Given the description of an element on the screen output the (x, y) to click on. 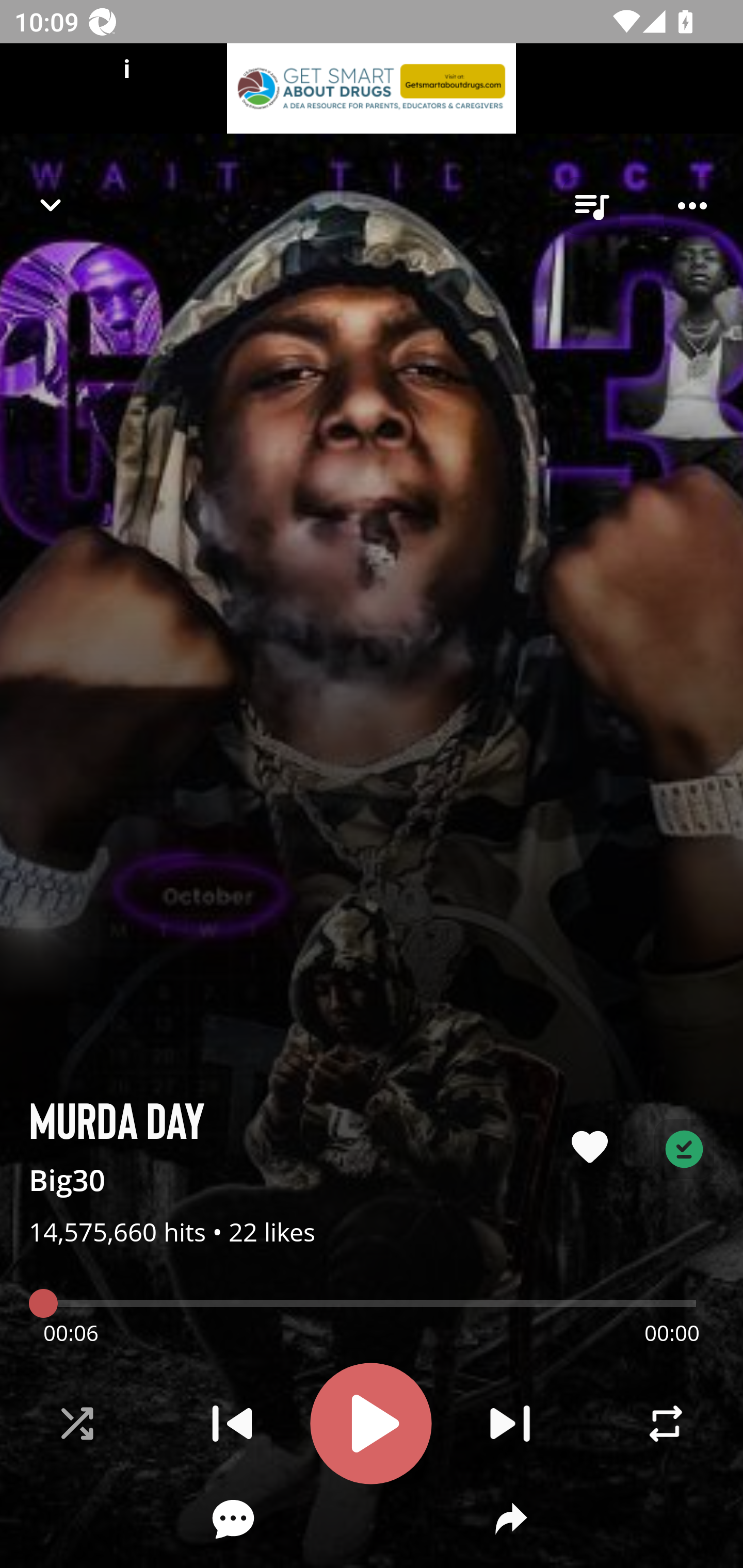
Navigate up (50, 205)
queue (590, 206)
Player options (692, 206)
